Given the description of an element on the screen output the (x, y) to click on. 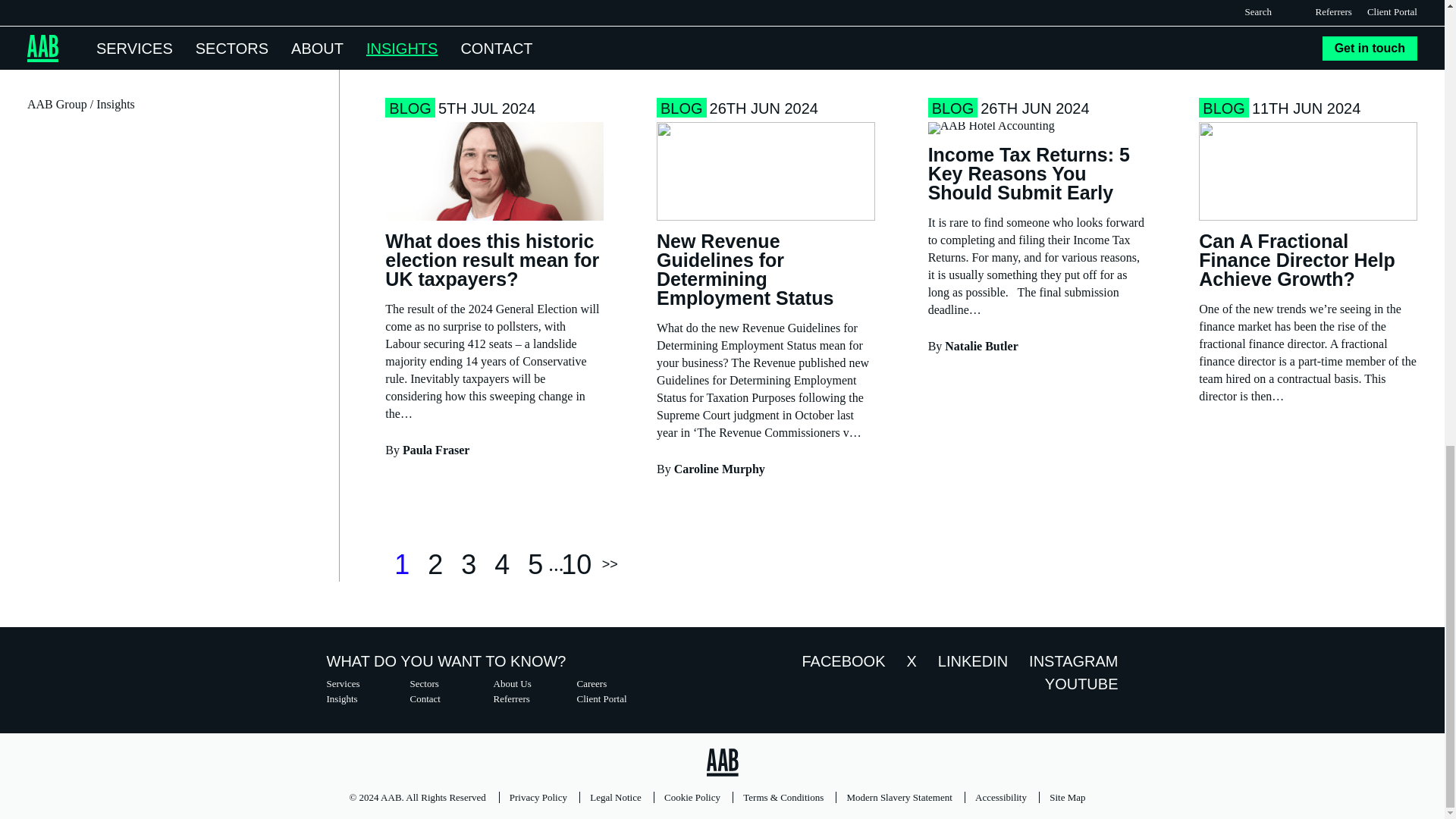
Page 4 (501, 564)
Page 2 (435, 564)
Page 10 (575, 564)
Page 5 (534, 564)
Page 3 (467, 564)
